Given the description of an element on the screen output the (x, y) to click on. 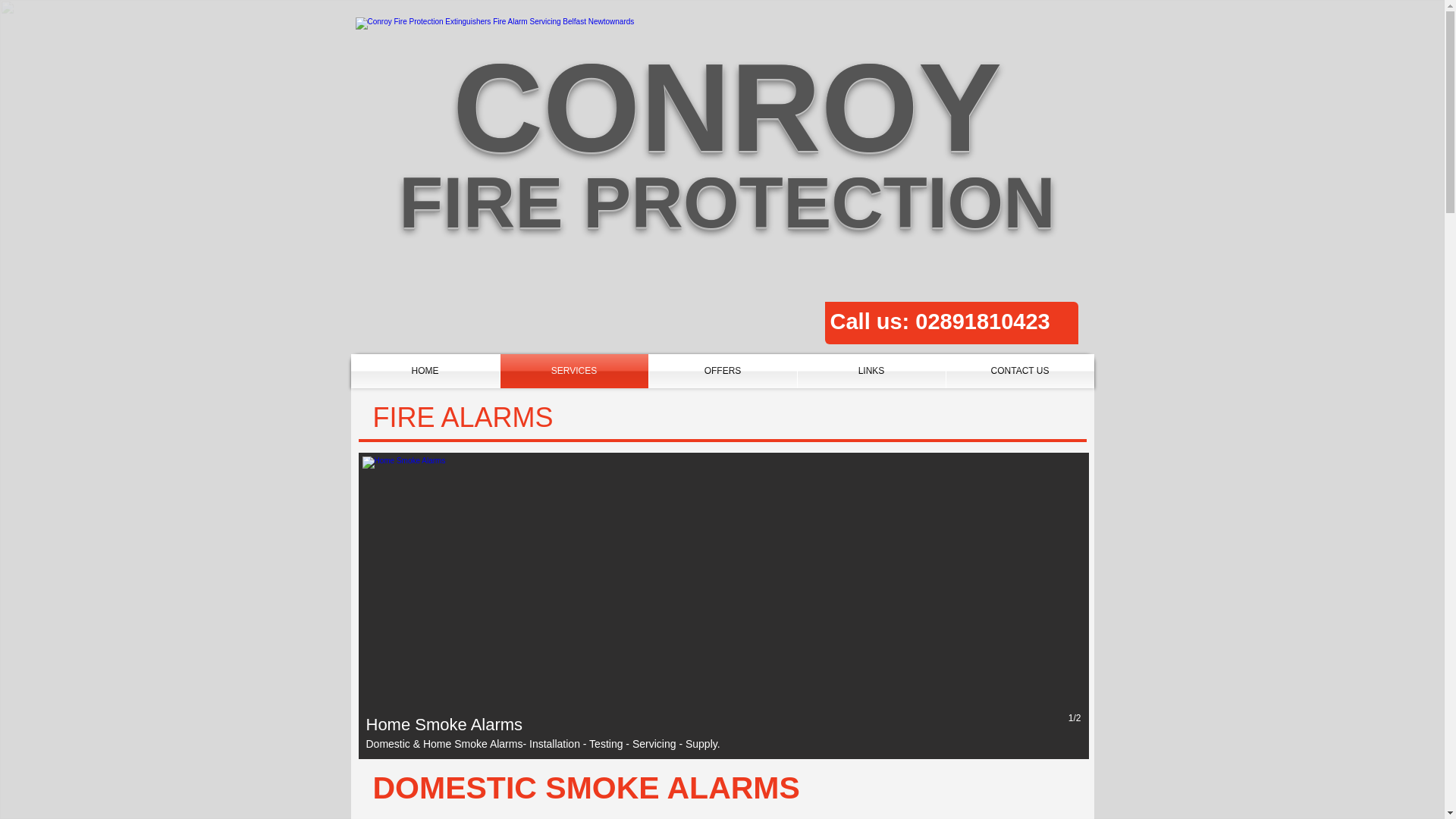
LINKS (870, 370)
OFFERS (722, 370)
HOME (424, 370)
CONTACT US (1020, 370)
SERVICES (573, 370)
